Given the description of an element on the screen output the (x, y) to click on. 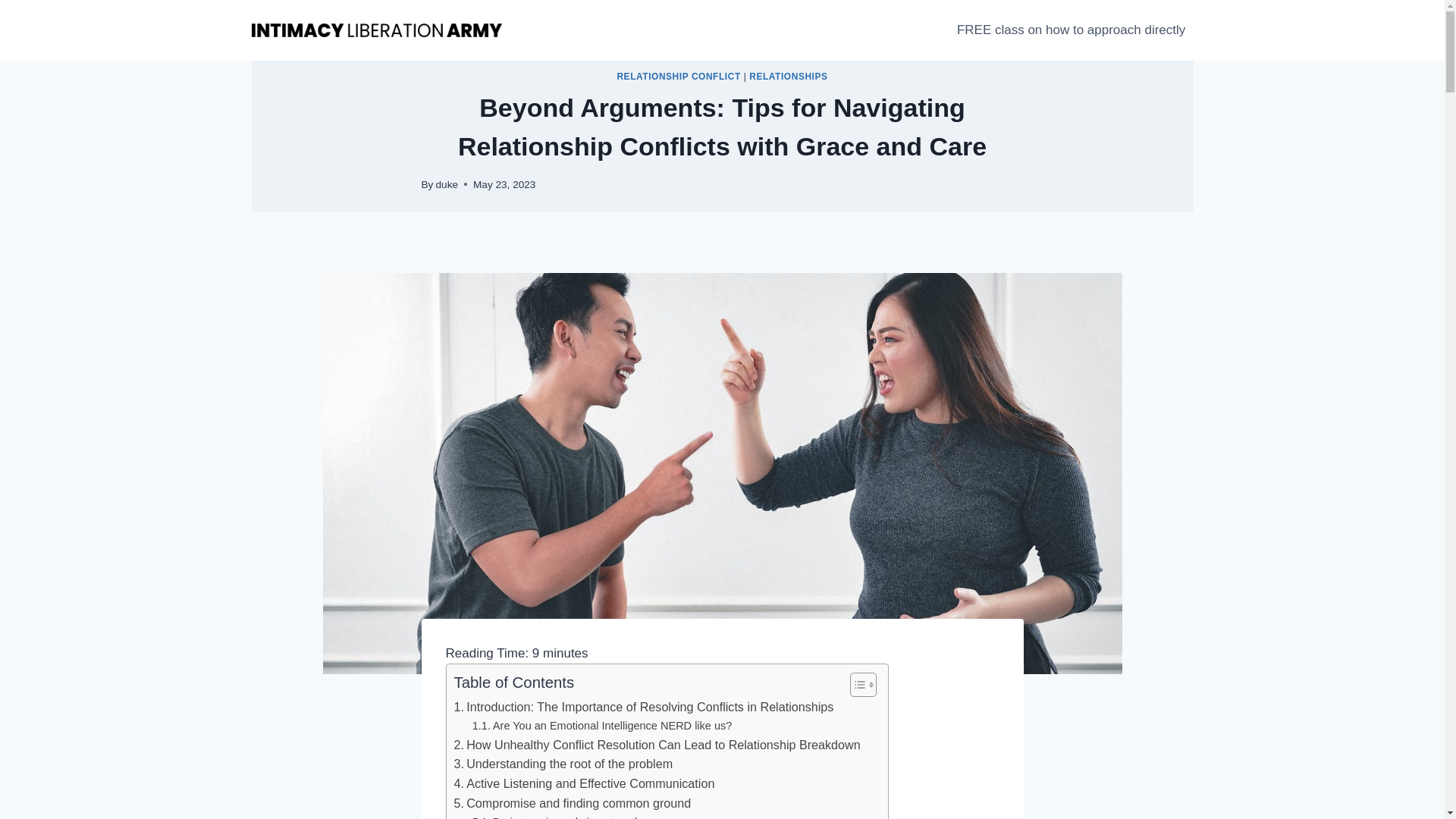
Brainstorming solutions together (560, 816)
Understanding the root of the problem (562, 763)
Understanding the root of the problem (562, 763)
Brainstorming solutions together (560, 816)
RELATIONSHIPS (788, 76)
Are You an Emotional Intelligence NERD like us? (601, 725)
Compromise and finding common ground (571, 803)
